Given the description of an element on the screen output the (x, y) to click on. 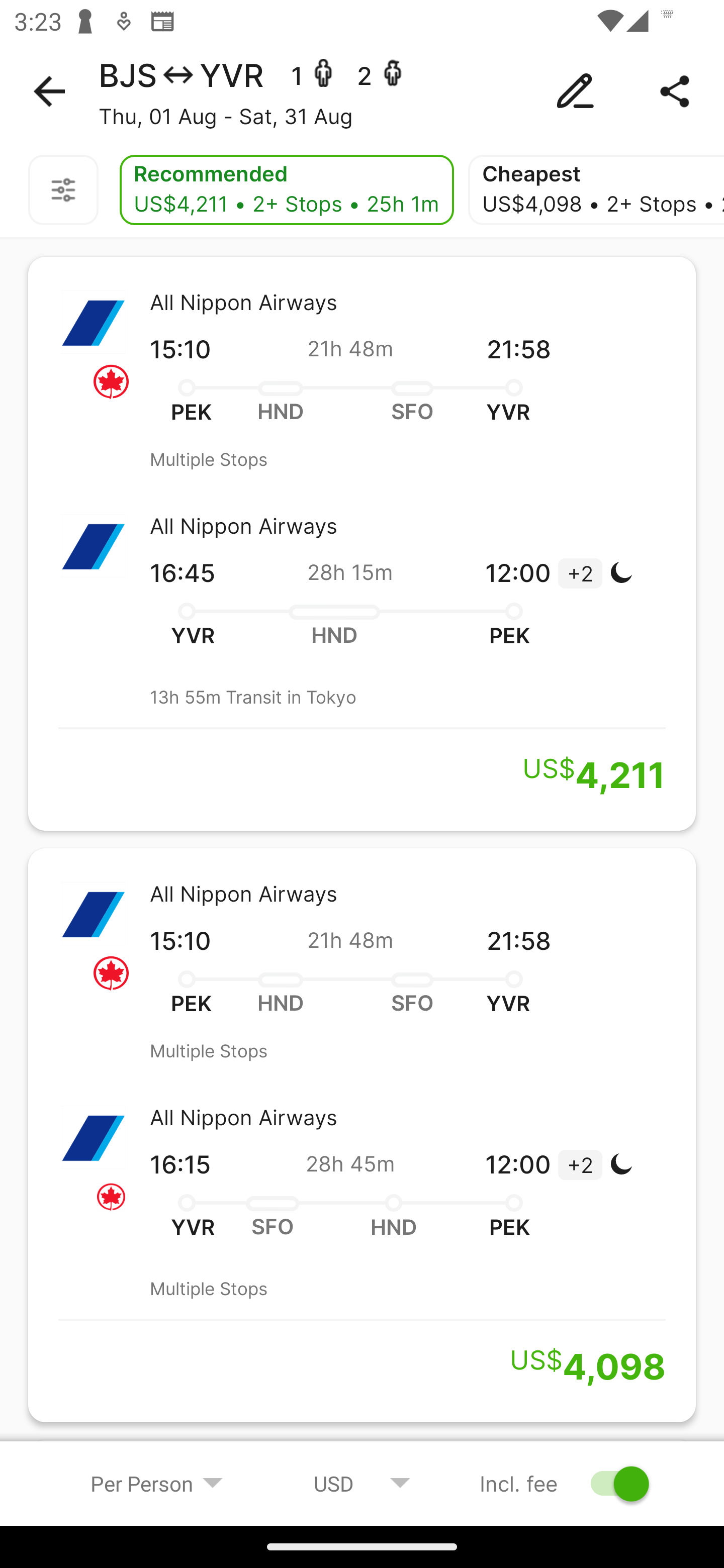
BJS YVR   1 -   2 - Thu, 01 Aug - Sat, 31 Aug (361, 91)
Recommended  US$4,211 • 2+ Stops • 25h 1m (286, 190)
Cheapest US$4,098 • 2+ Stops • 25h 16m (596, 190)
Per Person (156, 1482)
USD (361, 1482)
